Given the description of an element on the screen output the (x, y) to click on. 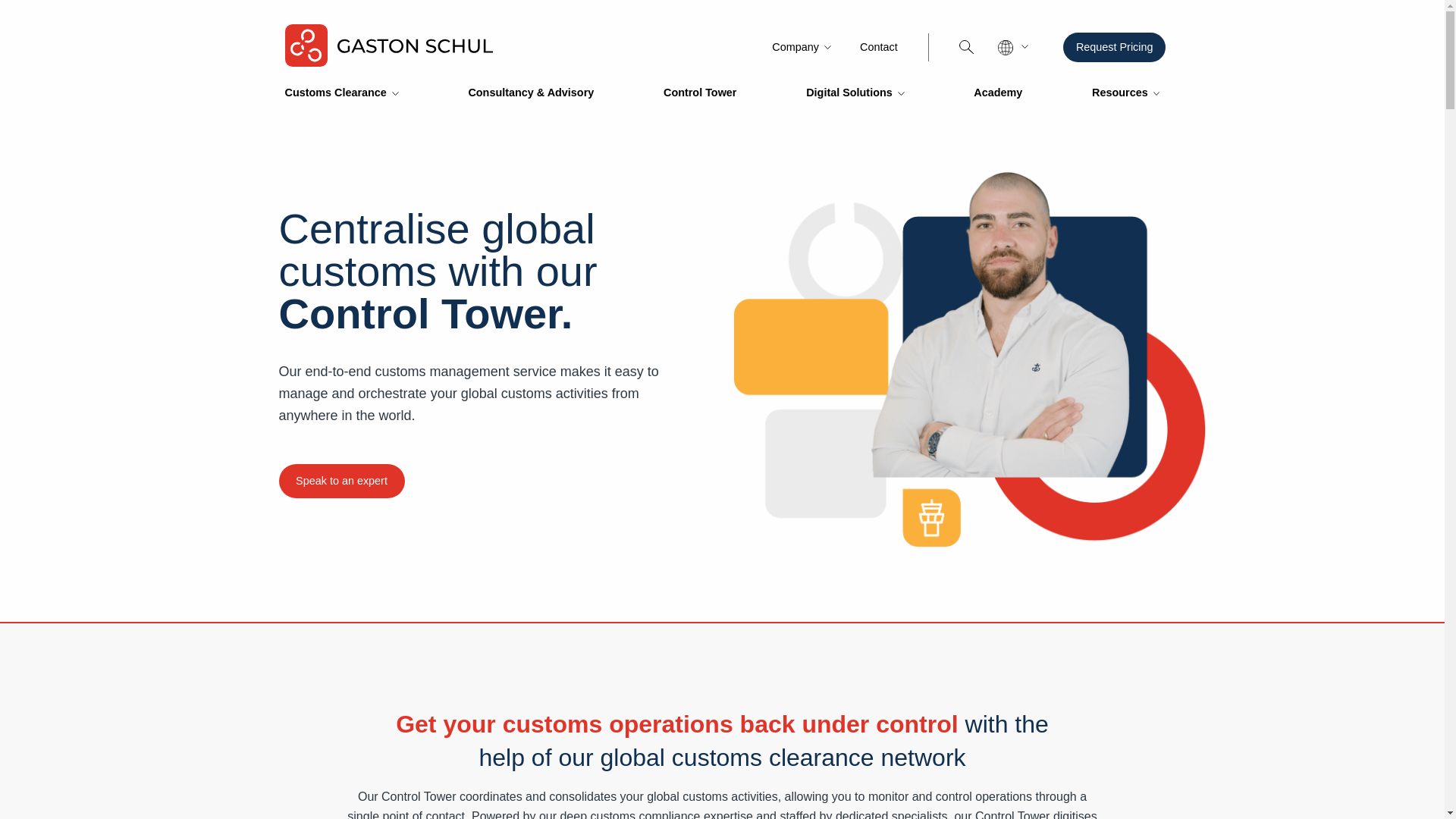
Digital Solutions (855, 92)
Request Pricing (1114, 47)
Academy (998, 92)
Company (803, 47)
Customs Clearance (341, 92)
Contact (878, 47)
Control Tower (699, 92)
Resources (1125, 92)
Speak to an expert (341, 480)
